Given the description of an element on the screen output the (x, y) to click on. 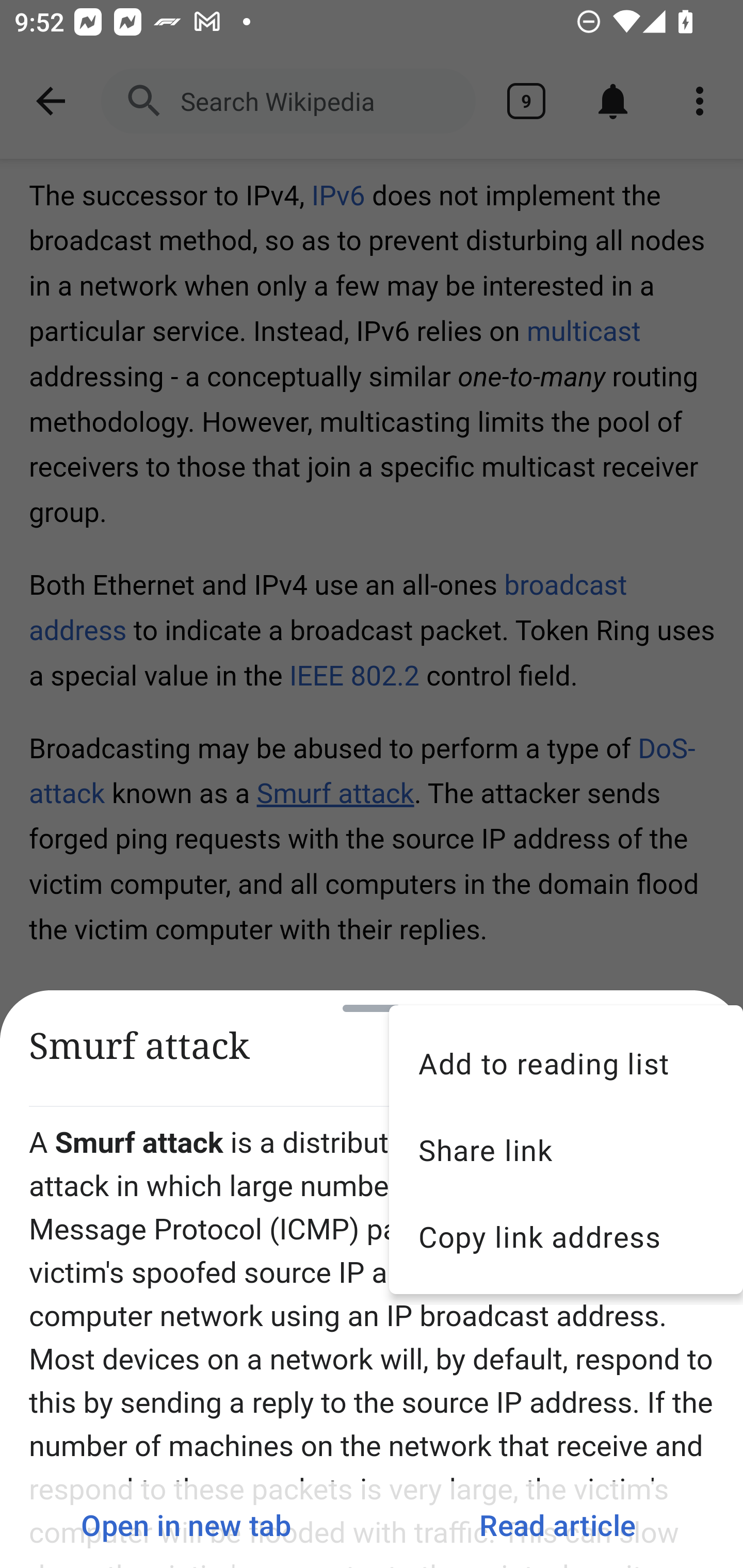
Add to reading list (566, 1063)
Share link (566, 1150)
Copy link address (566, 1236)
